Given the description of an element on the screen output the (x, y) to click on. 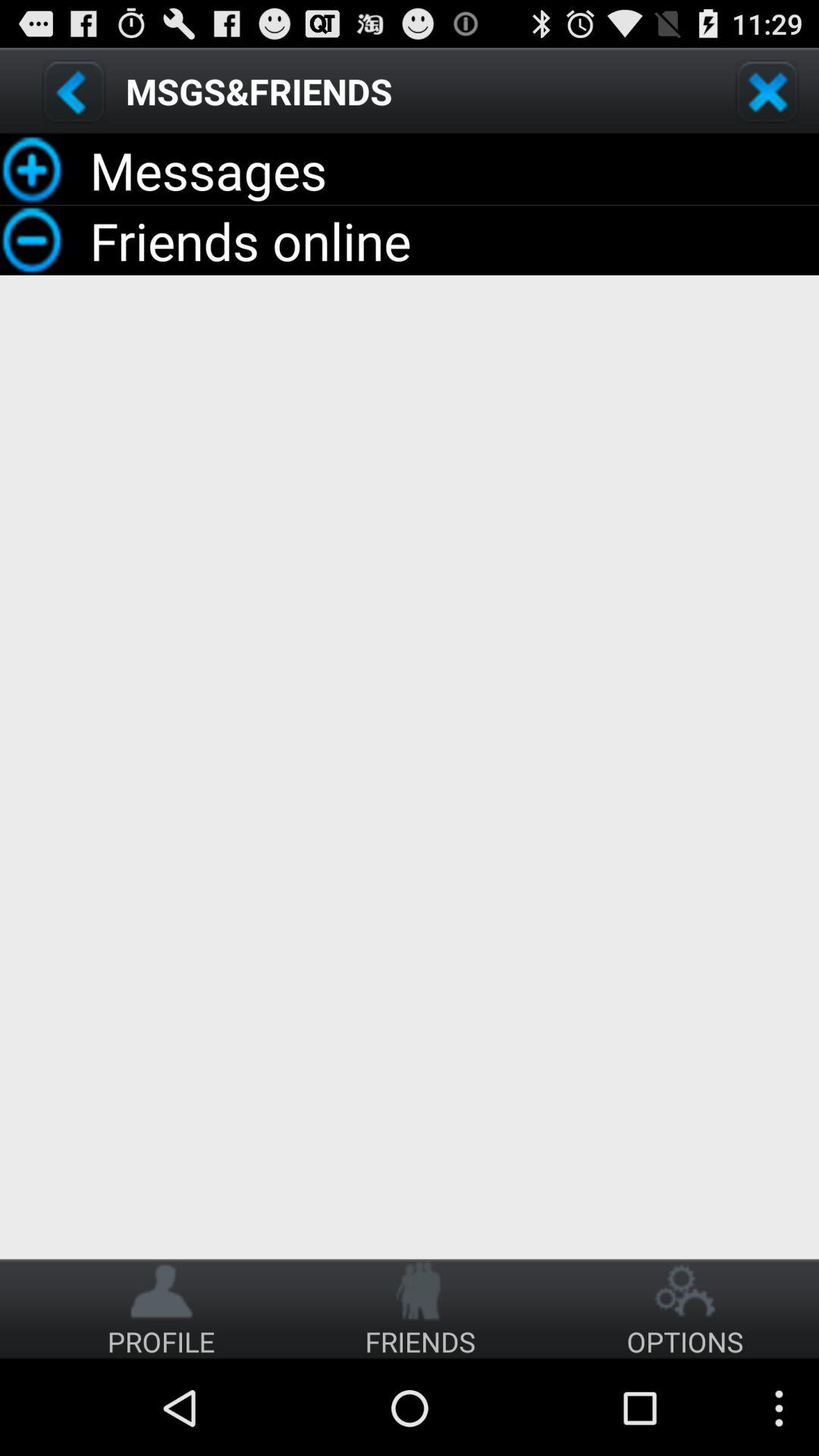
close or exit (767, 91)
